Given the description of an element on the screen output the (x, y) to click on. 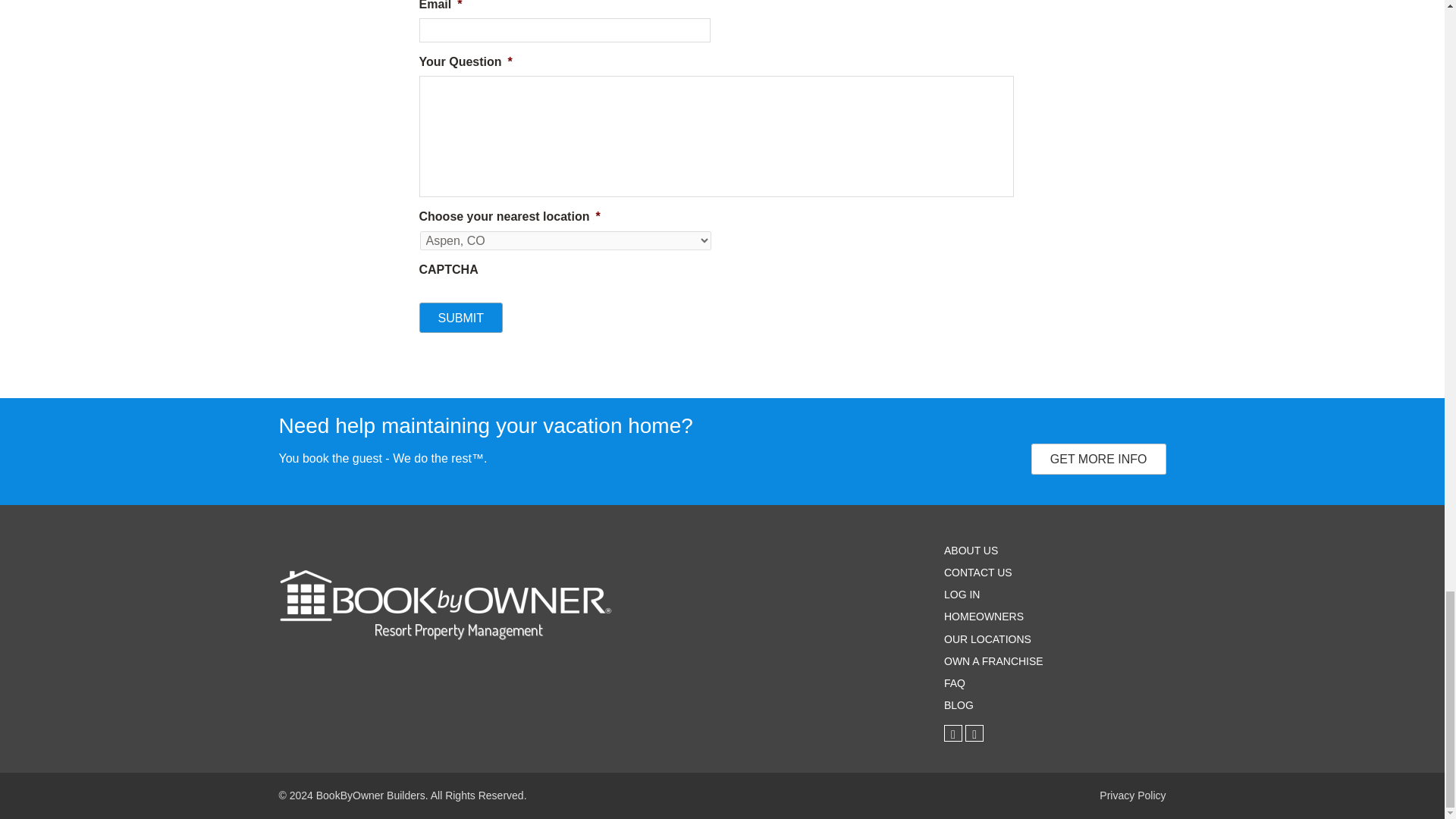
FAQ (954, 683)
CONTACT US (977, 572)
Submit (460, 317)
OUR LOCATIONS (986, 639)
GET MORE INFO (1098, 458)
LOG IN (961, 594)
OWN A FRANCHISE (993, 661)
ABOUT US (970, 550)
HOMEOWNERS (983, 616)
Submit (460, 317)
